Given the description of an element on the screen output the (x, y) to click on. 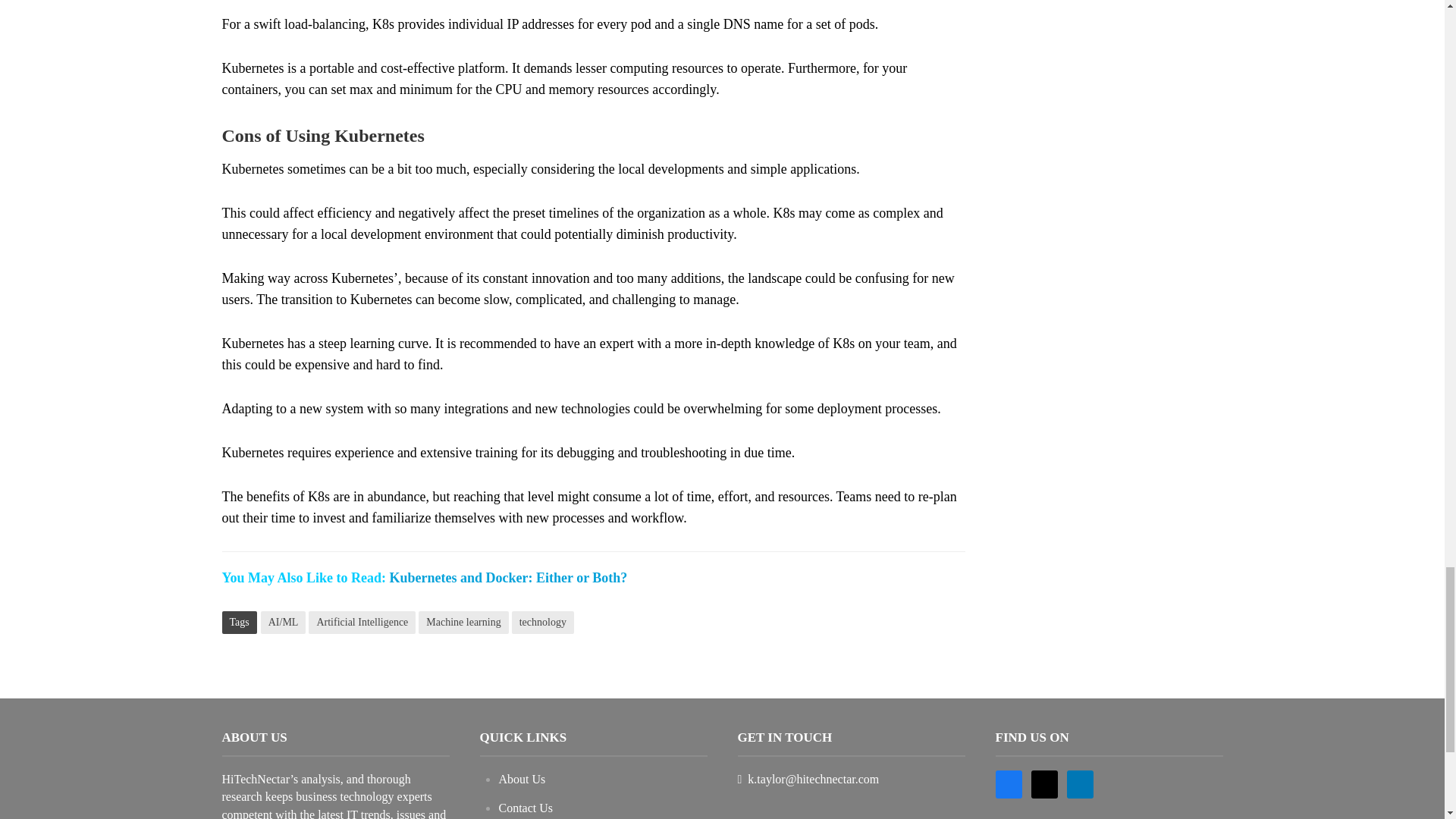
Machine learning (463, 621)
Kubernetes and Docker: Either or Both? (508, 578)
Artificial Intelligence (361, 621)
